Given the description of an element on the screen output the (x, y) to click on. 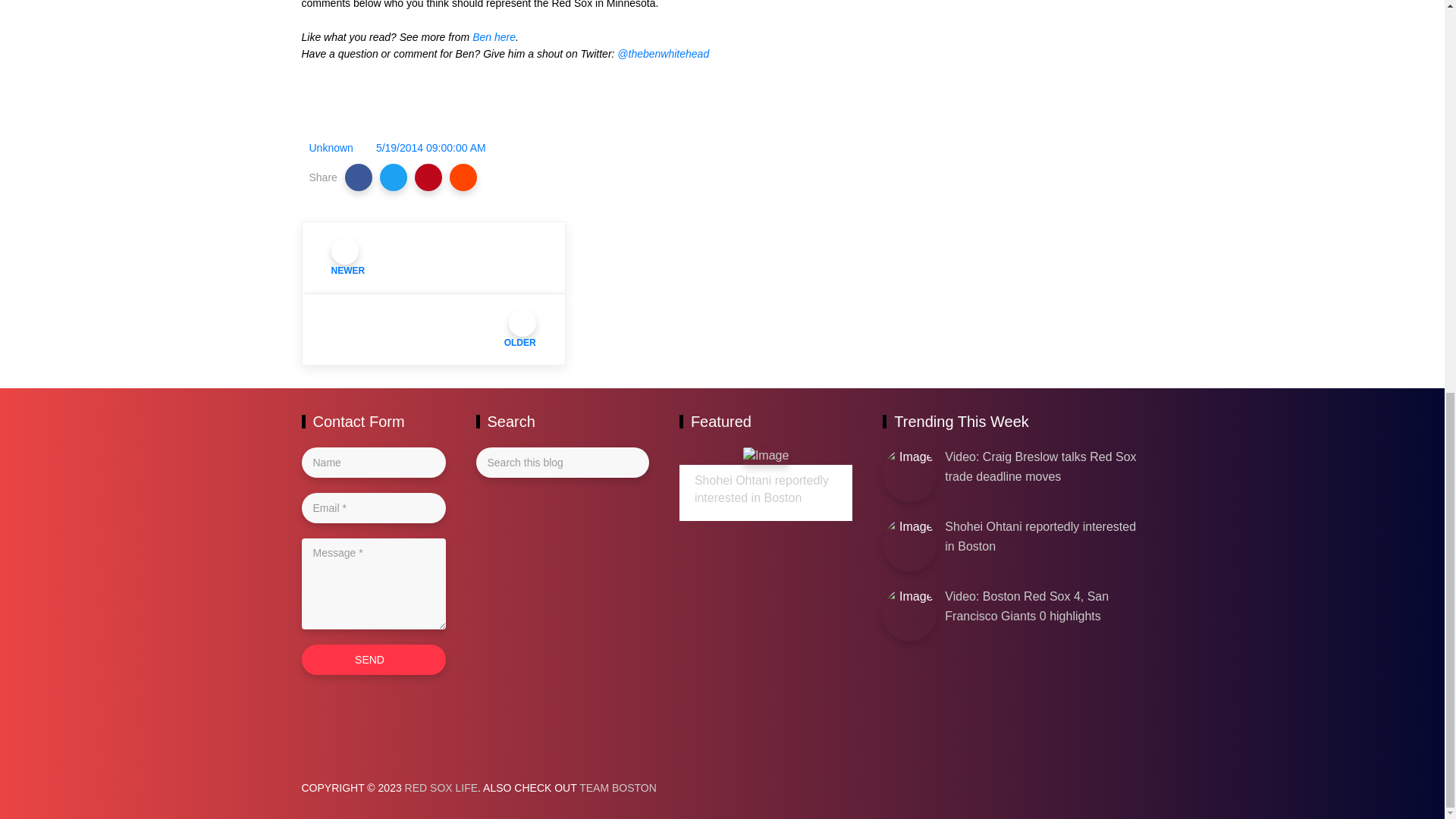
Video: Boston Red Sox 4, San Francisco Giants 0 highlights (1026, 605)
TEAM BOSTON (617, 787)
NEWER (433, 257)
OLDER (433, 329)
Share to Reddit (463, 176)
Share to Twitter (393, 176)
Unknown (330, 147)
RED SOX LIFE (440, 787)
Video: Craig Breslow talks Red Sox trade deadline moves (1039, 466)
author profile (330, 147)
